Given the description of an element on the screen output the (x, y) to click on. 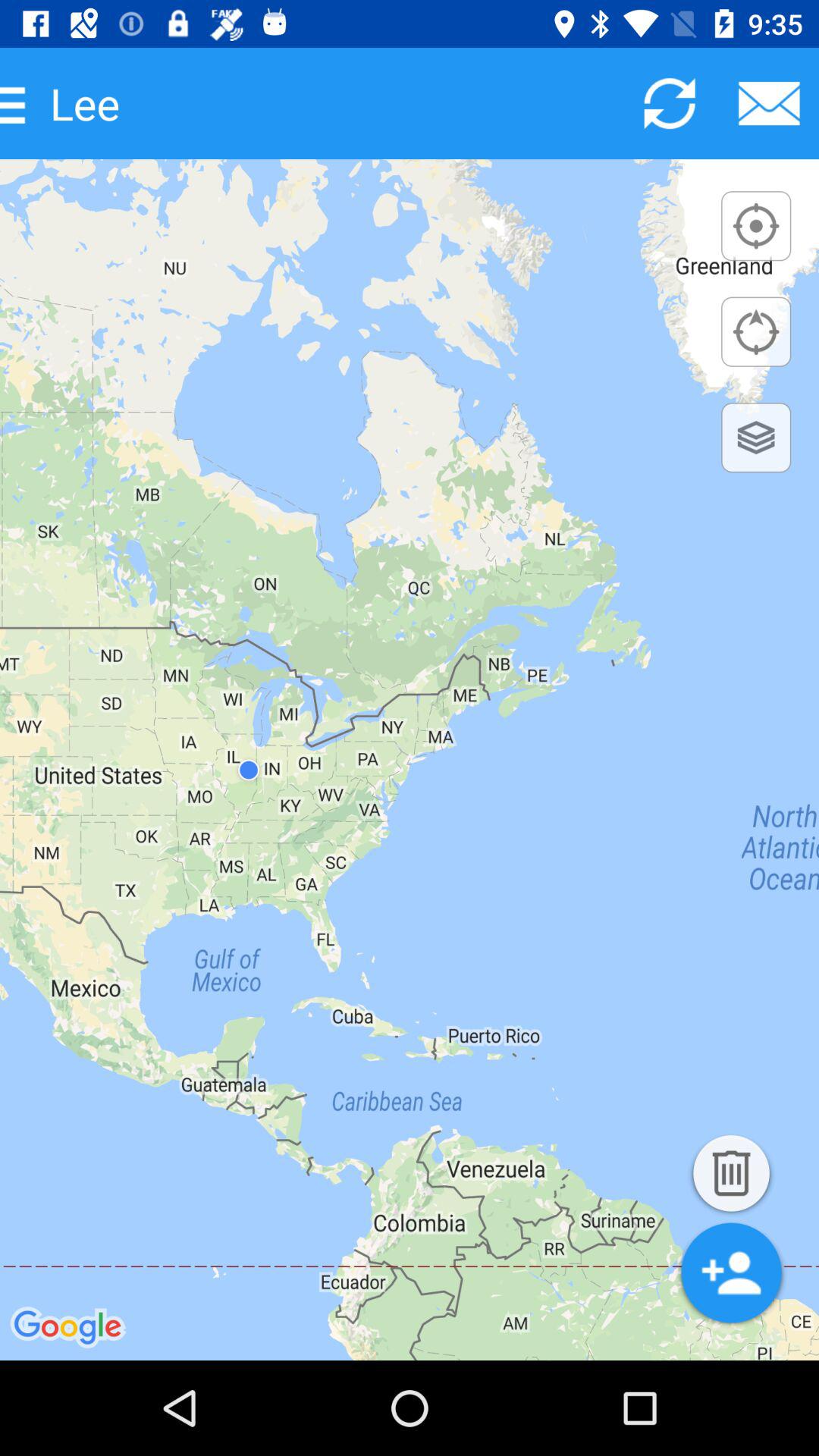
open icon at the center (409, 759)
